Given the description of an element on the screen output the (x, y) to click on. 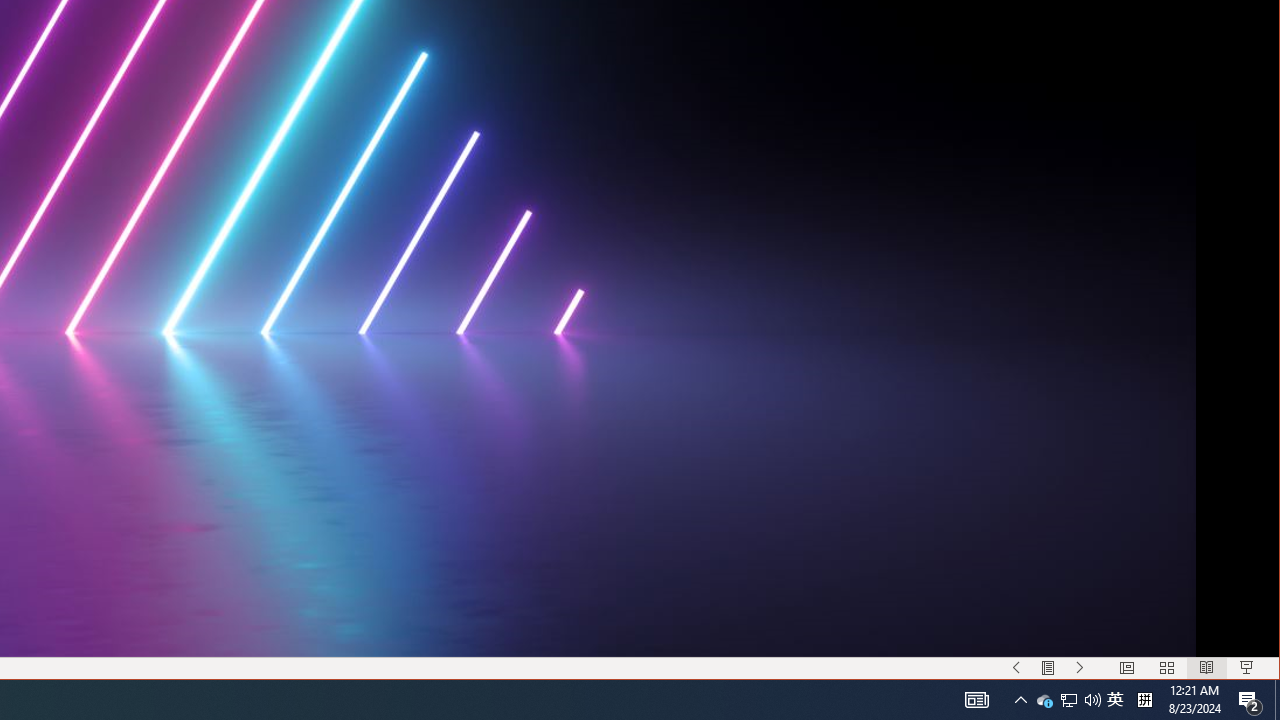
Menu On (1048, 668)
Slide Show Previous On (1016, 668)
